Given the description of an element on the screen output the (x, y) to click on. 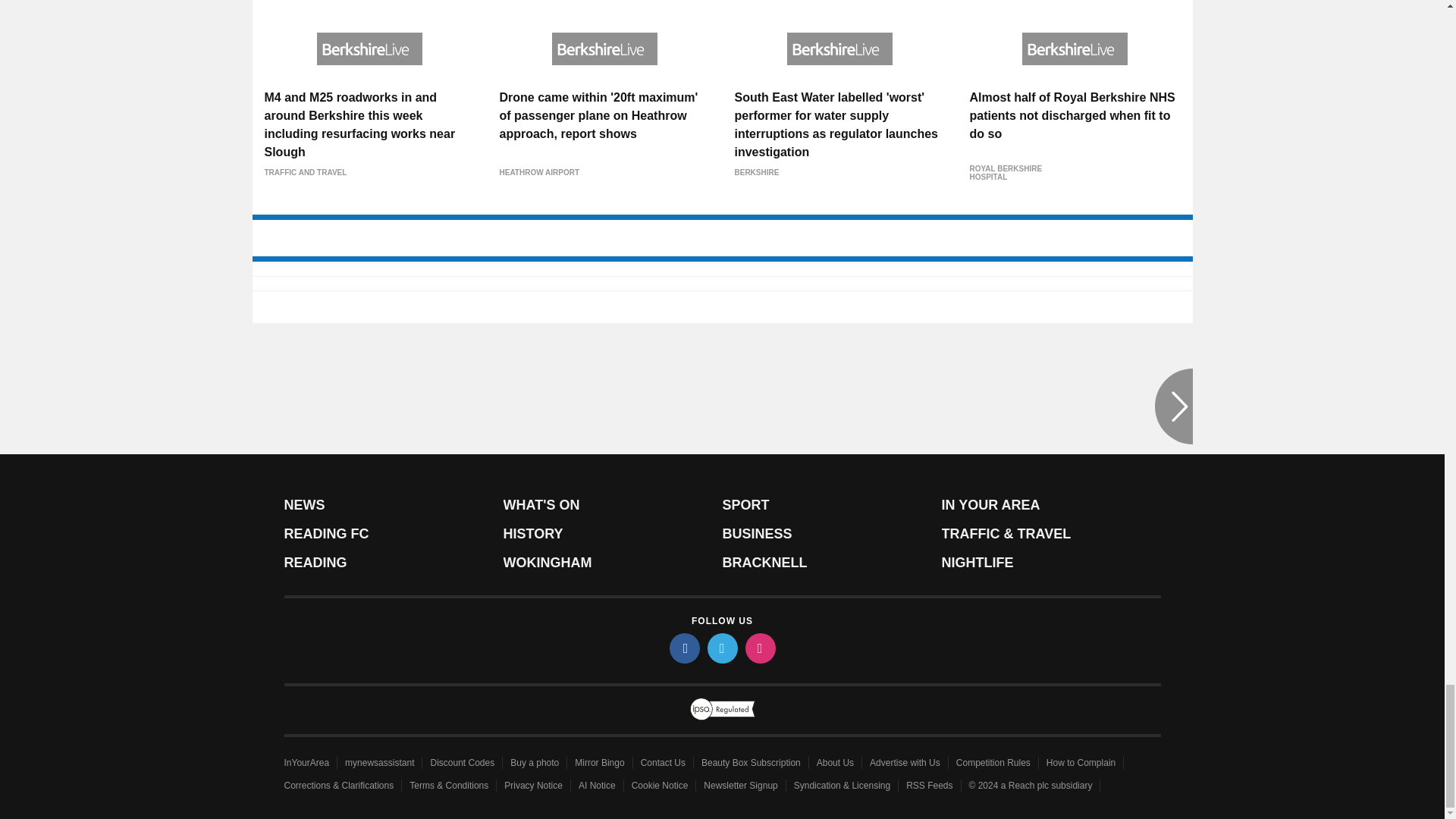
instagram (759, 648)
twitter (721, 648)
facebook (683, 648)
